Given the description of an element on the screen output the (x, y) to click on. 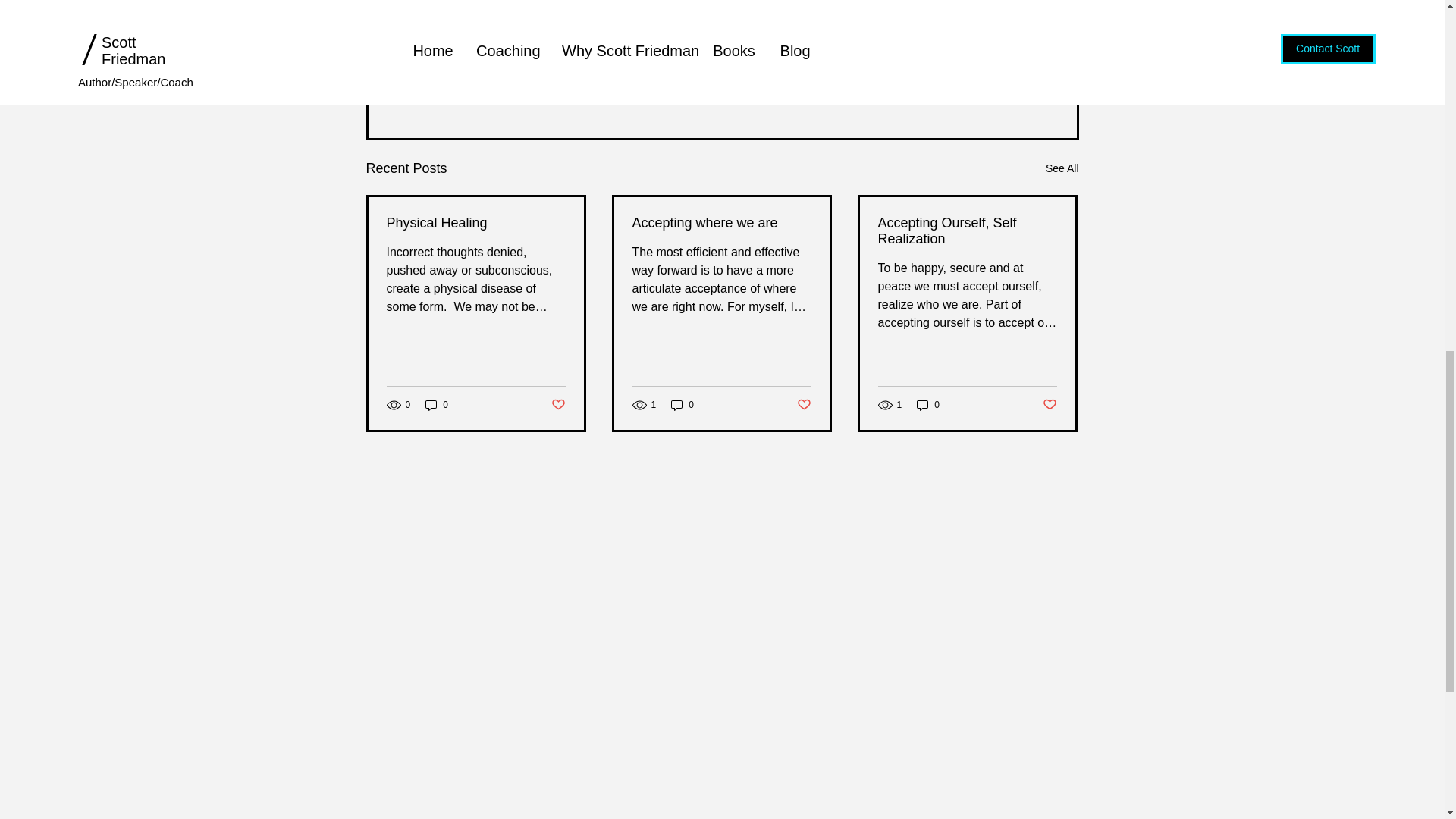
Post not marked as liked (803, 405)
Post not marked as liked (995, 83)
Post not marked as liked (557, 405)
Physical Healing (476, 222)
See All (1061, 168)
Accepting where we are (720, 222)
0 (682, 405)
Accepting Ourself, Self Realization (967, 231)
0 (927, 405)
Post not marked as liked (1049, 405)
0 (436, 405)
